Given the description of an element on the screen output the (x, y) to click on. 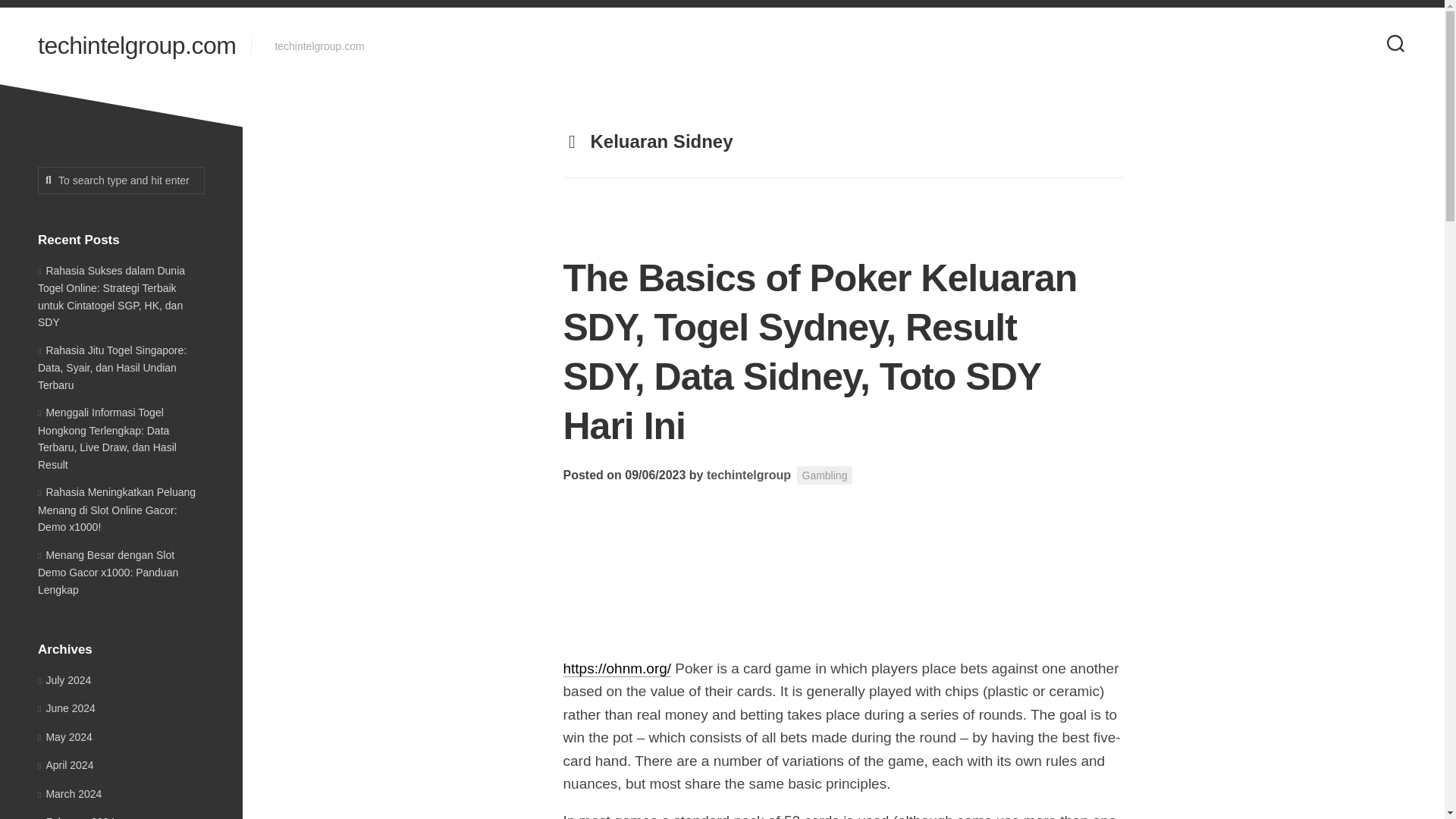
Gambling (823, 475)
techintelgroup.com (136, 44)
June 2024 (66, 707)
Menang Besar dengan Slot Demo Gacor x1000: Panduan Lengkap (107, 572)
May 2024 (65, 736)
To search type and hit enter (121, 180)
Posts by techintelgroup (748, 474)
To search type and hit enter (121, 180)
March 2024 (69, 793)
techintelgroup (748, 474)
